Given the description of an element on the screen output the (x, y) to click on. 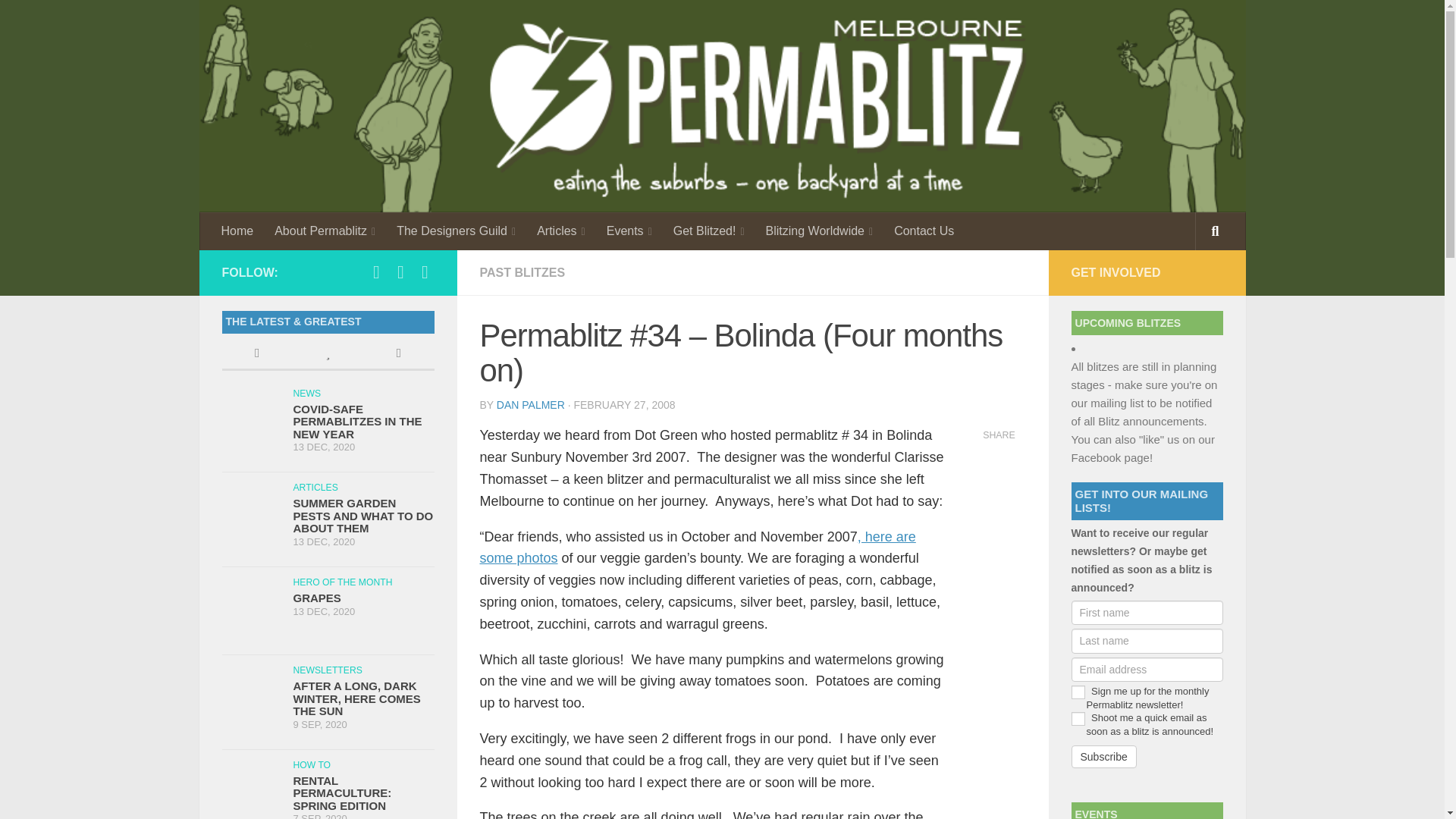
Recent Posts (256, 354)
Follow us on Youtube (423, 271)
Get Blitzed! (708, 231)
Blitzing Worldwide (819, 231)
Popular Posts (327, 354)
PAST BLITZES (521, 272)
DAN PALMER (530, 404)
Shoot me a quick email as soon as a blitz is announced! (1077, 718)
Contact Us (923, 231)
Posts by Dan Palmer (530, 404)
Sign me up for the monthly Permablitz newsletter! (1077, 692)
Tags (397, 354)
Follow us on Instagram (400, 271)
Subscribe (1102, 756)
